Given the description of an element on the screen output the (x, y) to click on. 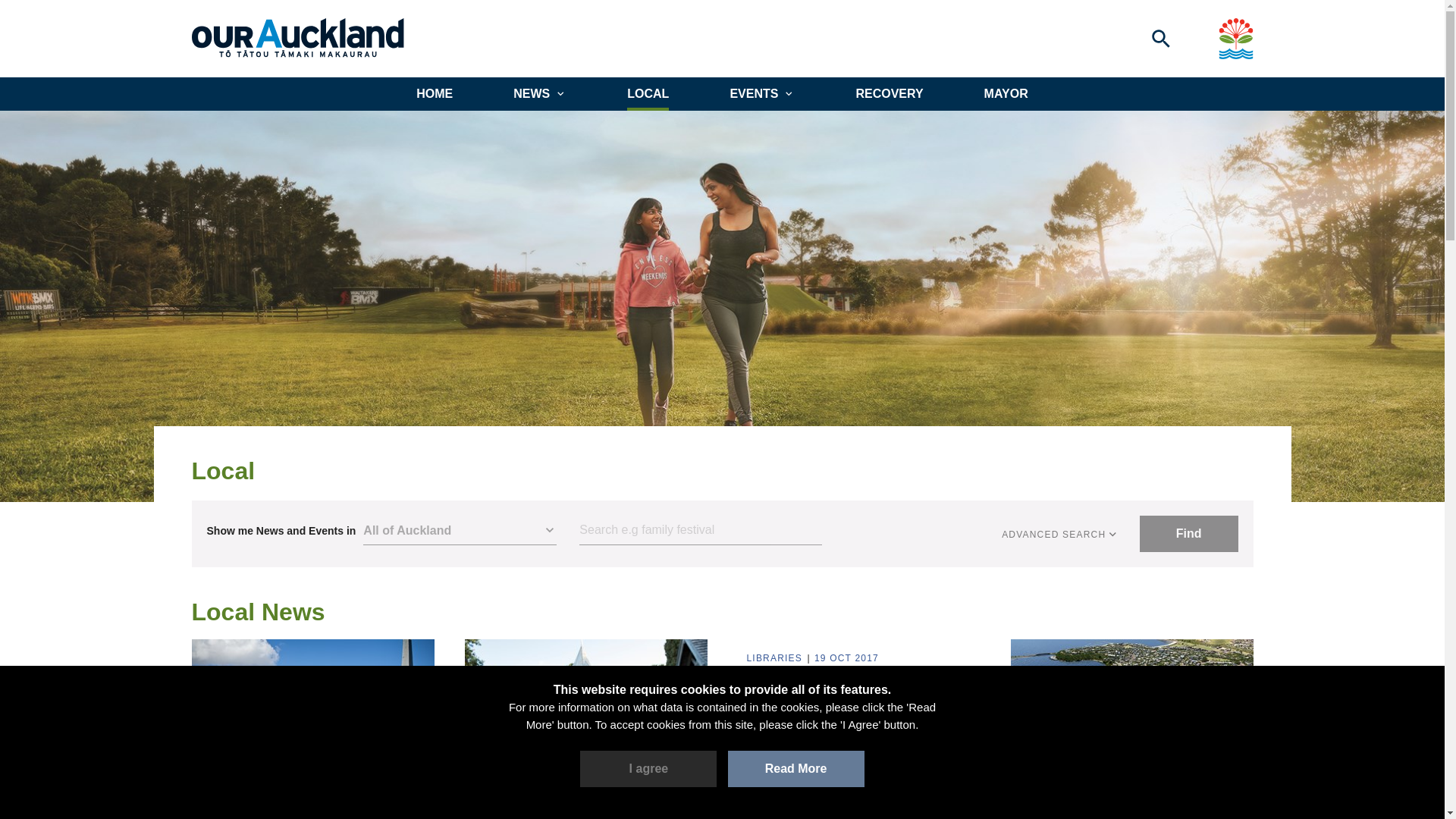
HERITAGE (501, 816)
LOCAL (647, 93)
Search (700, 530)
LIBRARIES (775, 658)
MAYOR (1005, 93)
HOME (434, 93)
Toggle search (1160, 38)
HERITAGE (228, 816)
Find (1189, 533)
ADVANCED SEARCH (1060, 534)
